Given the description of an element on the screen output the (x, y) to click on. 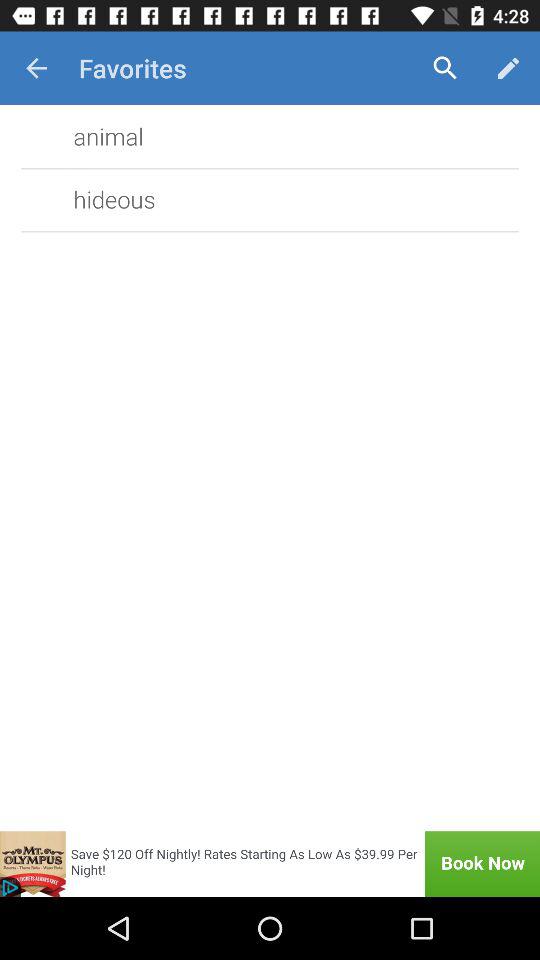
press app to the right of favorites (444, 67)
